Given the description of an element on the screen output the (x, y) to click on. 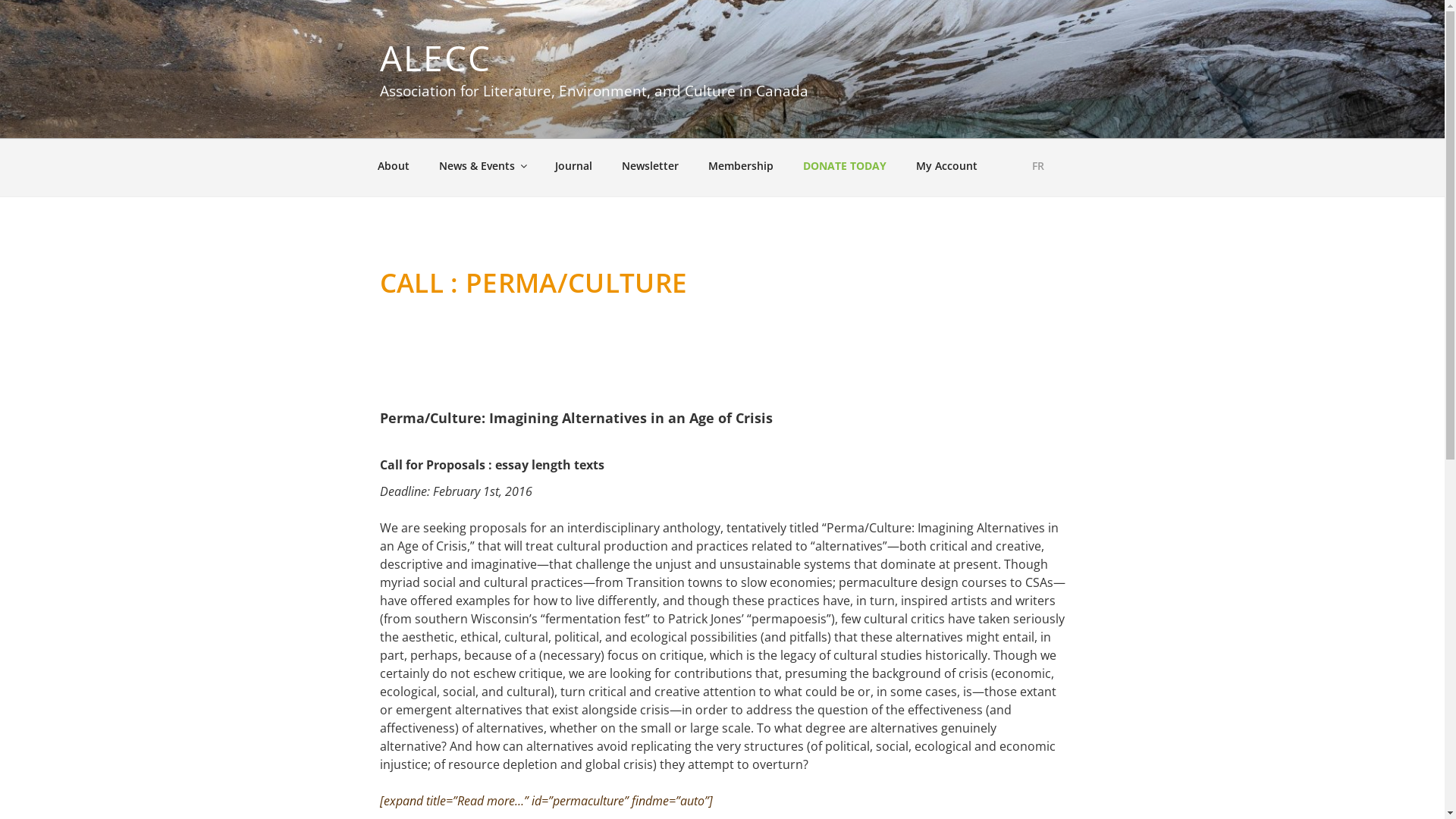
My Account Element type: text (946, 165)
Journal Element type: text (573, 165)
FR Element type: text (1032, 165)
Membership Element type: text (740, 165)
DONATE TODAY Element type: text (845, 165)
Skip to content Element type: text (0, 0)
ALECC Element type: text (435, 57)
Newsletter Element type: text (649, 165)
News & Events Element type: text (482, 165)
About Element type: text (393, 165)
